Given the description of an element on the screen output the (x, y) to click on. 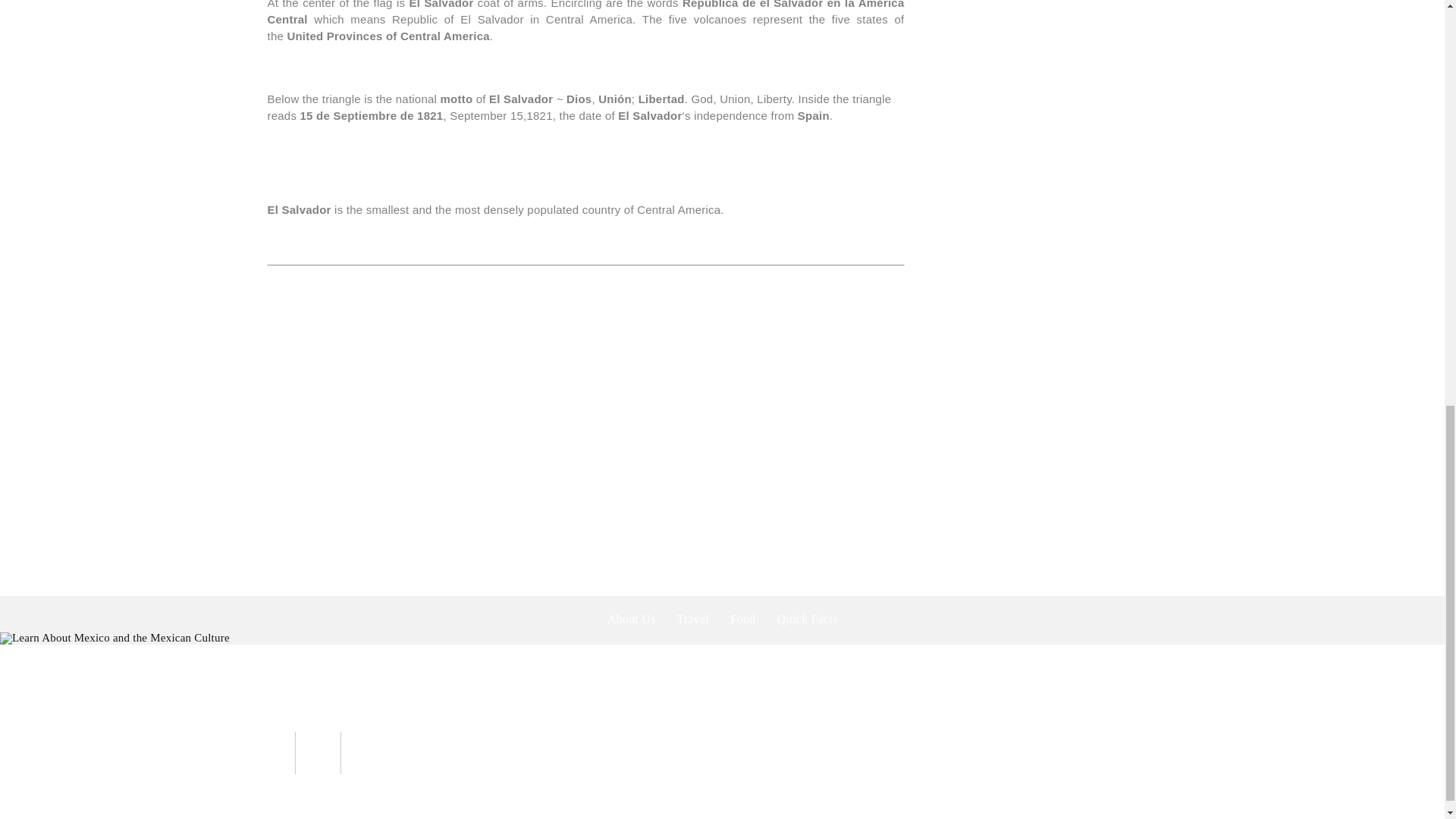
Facebook (516, 718)
footer-top-bg (115, 638)
Twitter (549, 718)
